Given the description of an element on the screen output the (x, y) to click on. 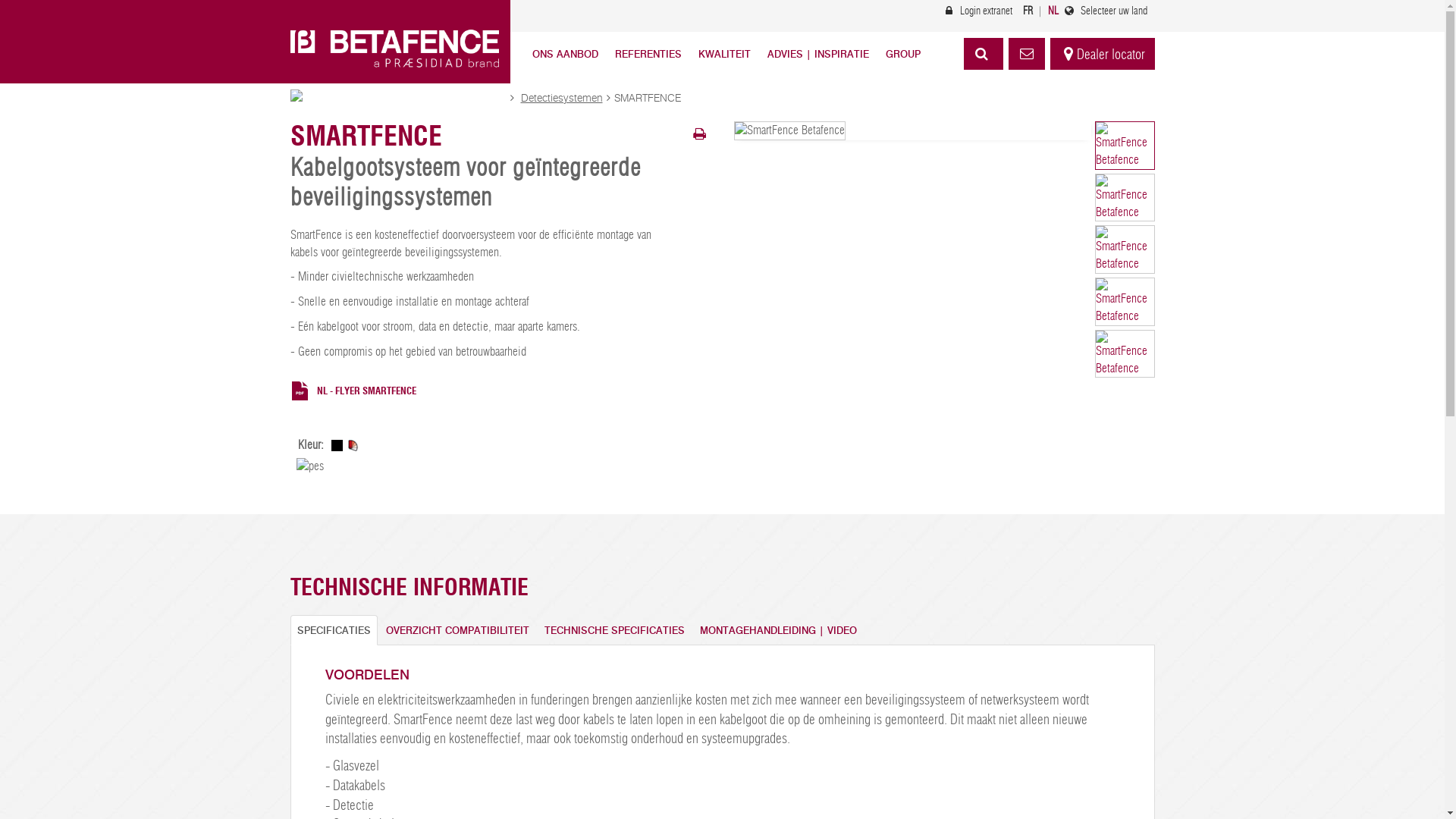
Selecteer uw land Element type: text (1104, 10)
Detectiesystemen Element type: text (561, 97)
OVERZICHT COMPATIBILITEIT Element type: text (457, 630)
Skip to main content Element type: text (50, 83)
Dealer locator Element type: text (1101, 53)
NL - FLYER SMARTFENCE Element type: text (478, 391)
Login extranet Element type: text (975, 10)
MONTAGEHANDLEIDING | VIDEO Element type: text (778, 630)
TECHNISCHE SPECIFICATIES Element type: text (613, 630)
SPECIFICATIES Element type: text (332, 630)
NL Element type: text (1053, 10)
FR Element type: text (1027, 10)
